Given the description of an element on the screen output the (x, y) to click on. 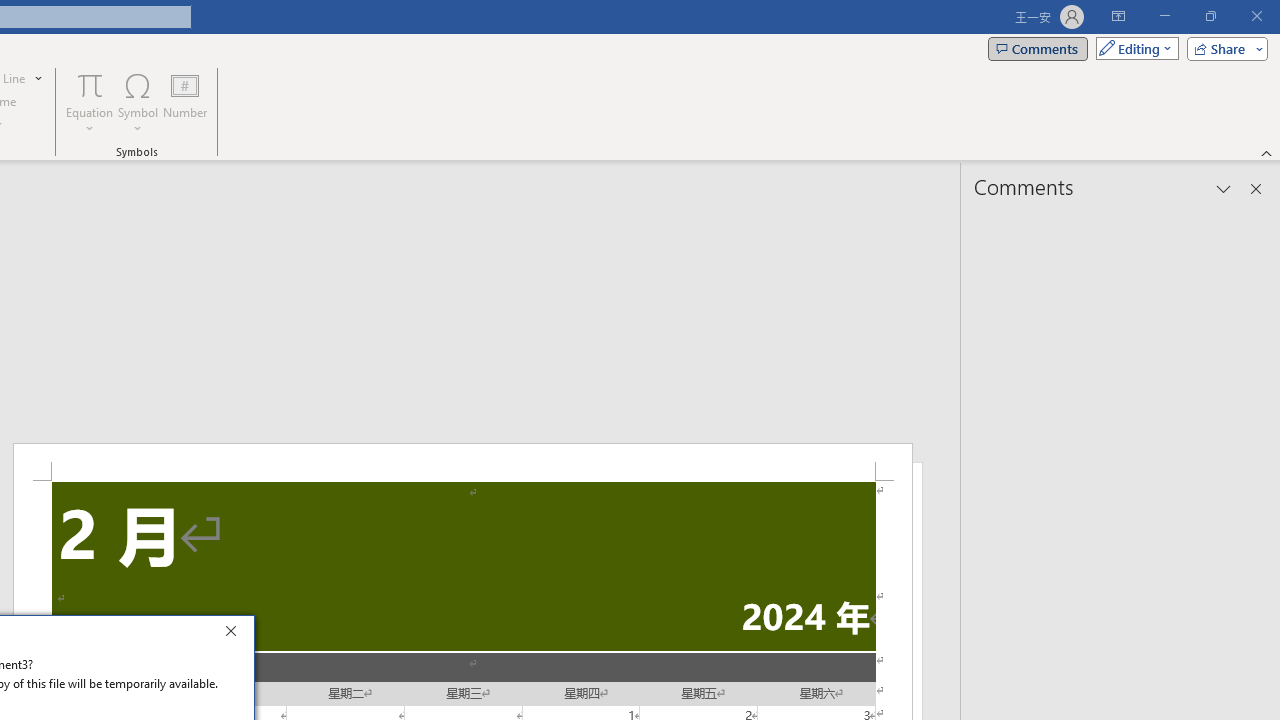
Comments (1038, 48)
Restore Down (1210, 16)
Symbol (138, 102)
Mode (1133, 47)
Task Pane Options (1224, 188)
Collapse the Ribbon (1267, 152)
Close pane (1256, 188)
Equation (90, 84)
Close (236, 633)
Minimize (1164, 16)
More Options (90, 121)
Header -Section 2- (462, 461)
Equation (90, 102)
Ribbon Display Options (1118, 16)
Number... (185, 102)
